Given the description of an element on the screen output the (x, y) to click on. 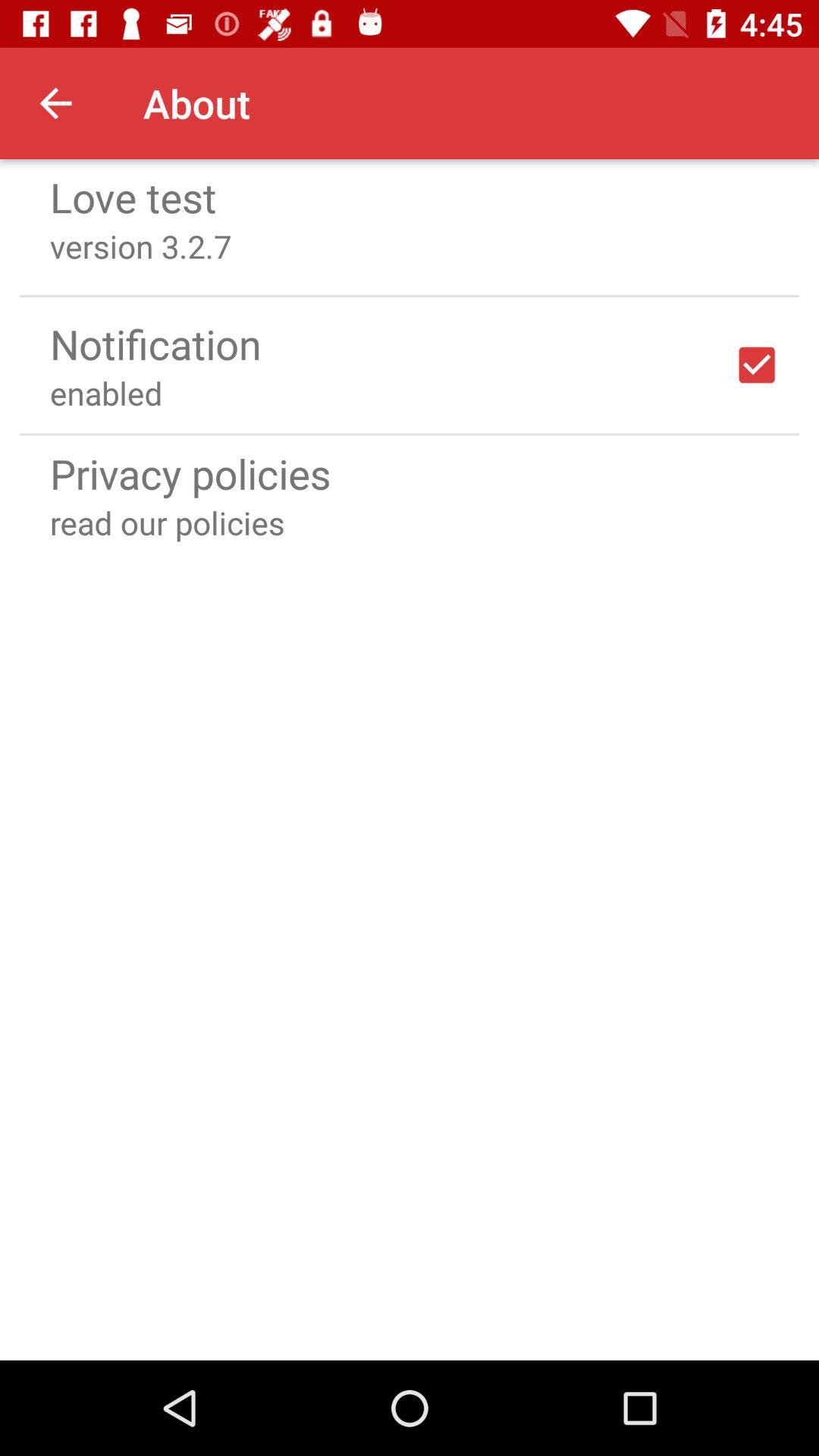
toggle notifications (756, 364)
